Given the description of an element on the screen output the (x, y) to click on. 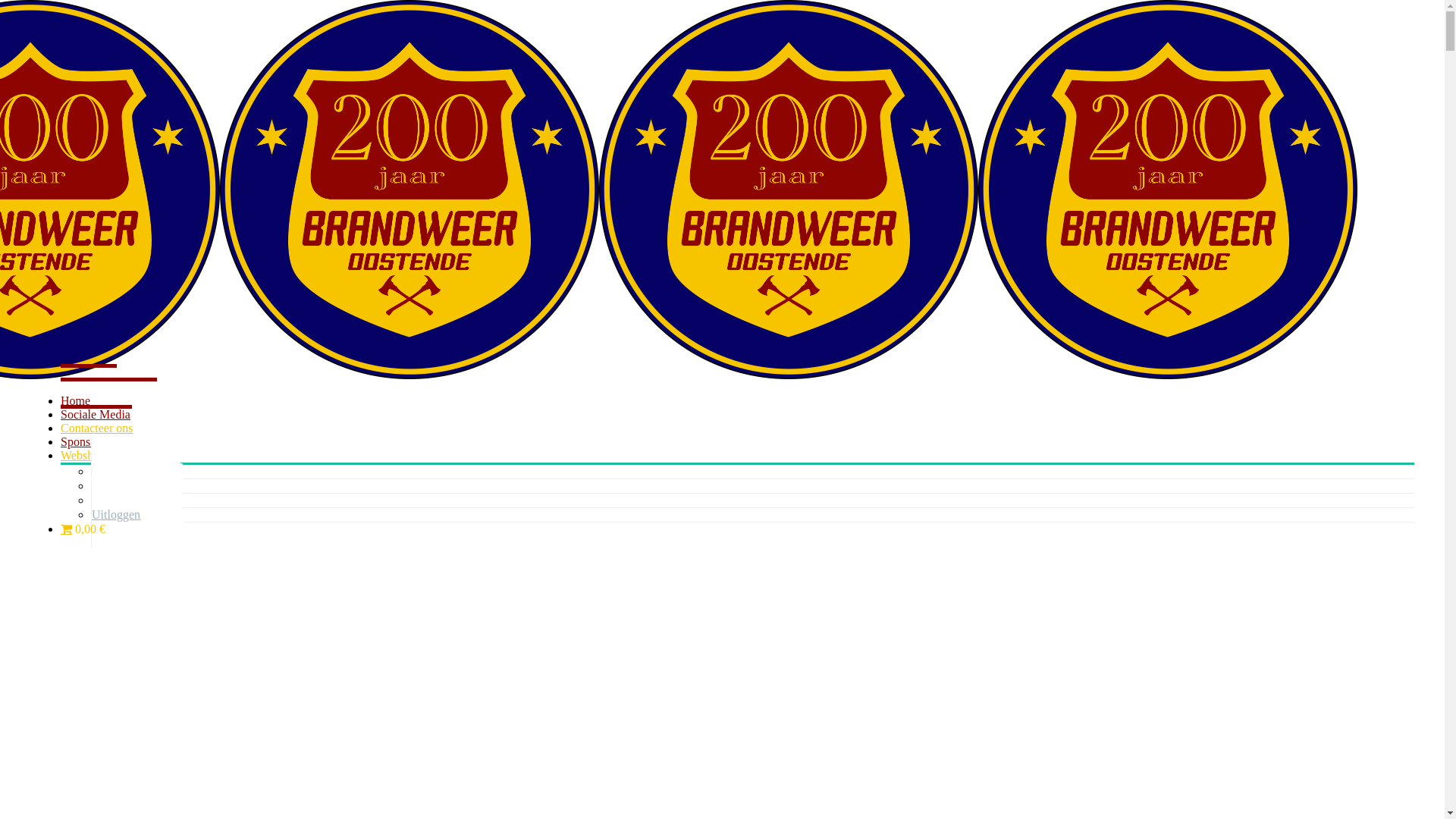
Uitloggen Element type: text (128, 512)
Sociale Media Element type: text (108, 412)
Webshop Element type: text (95, 453)
Afrekenen Element type: text (130, 483)
Home Element type: text (88, 398)
Sponsors Element type: text (95, 439)
Brandweer Oostende Element type: hover (1167, 189)
Winkelmand Element type: text (135, 469)
Mijn account Element type: text (136, 498)
Brandweer Oostende Element type: hover (788, 189)
Contacteer ons Element type: text (110, 426)
Brandweer Oostende Element type: hover (409, 189)
